Given the description of an element on the screen output the (x, y) to click on. 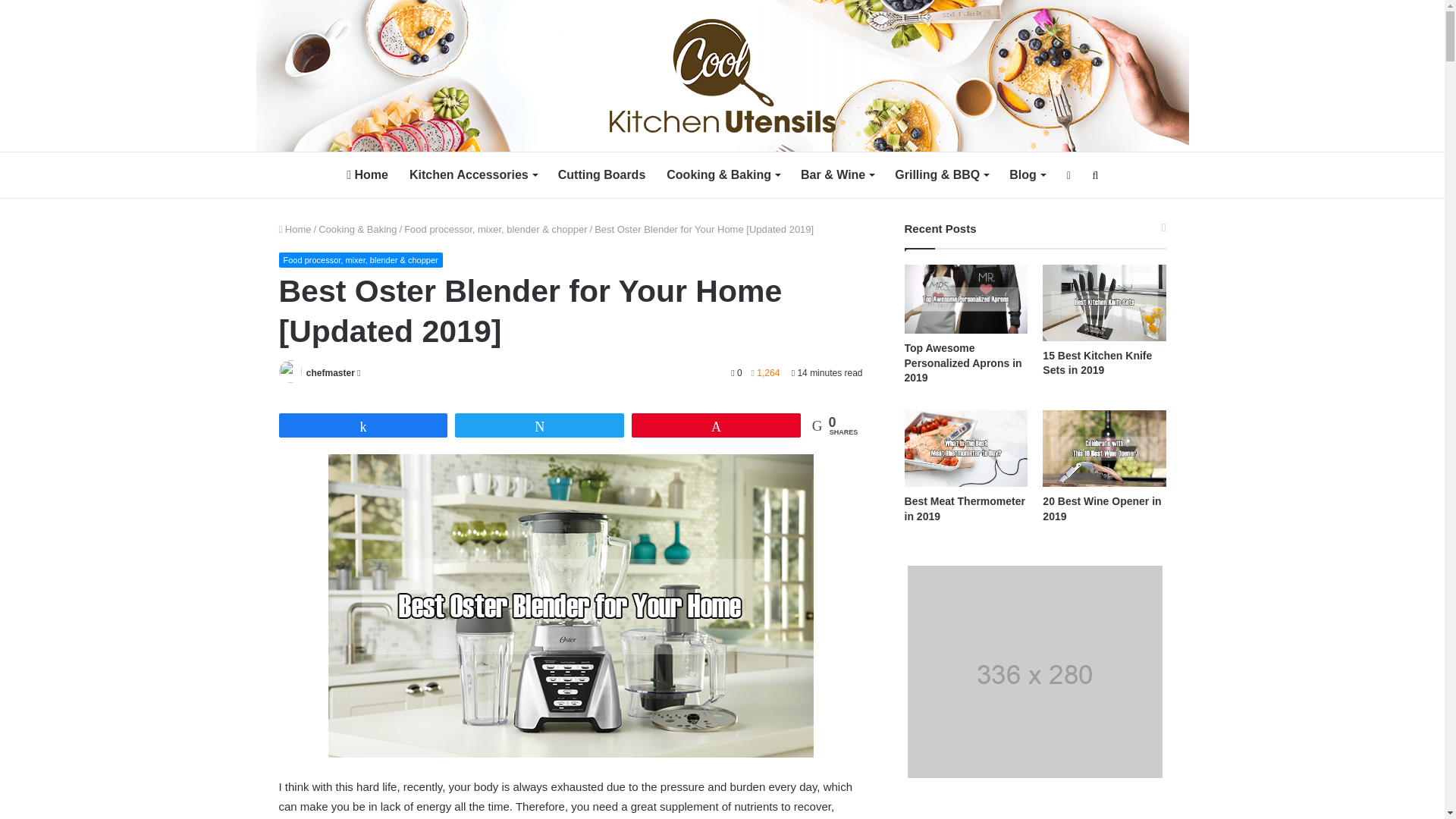
Top Awesome Personalized Aprons in 2019 (965, 297)
Cool Kitchen Utensils (722, 75)
Home (367, 175)
Top Awesome Personalized Aprons in 2019 (963, 363)
Cutting Boards (601, 175)
chefmaster (330, 372)
15 Best Kitchen Knife Sets in 2019 (1104, 301)
Home (295, 229)
Blog (1026, 175)
Kitchen Accessories (472, 175)
